Given the description of an element on the screen output the (x, y) to click on. 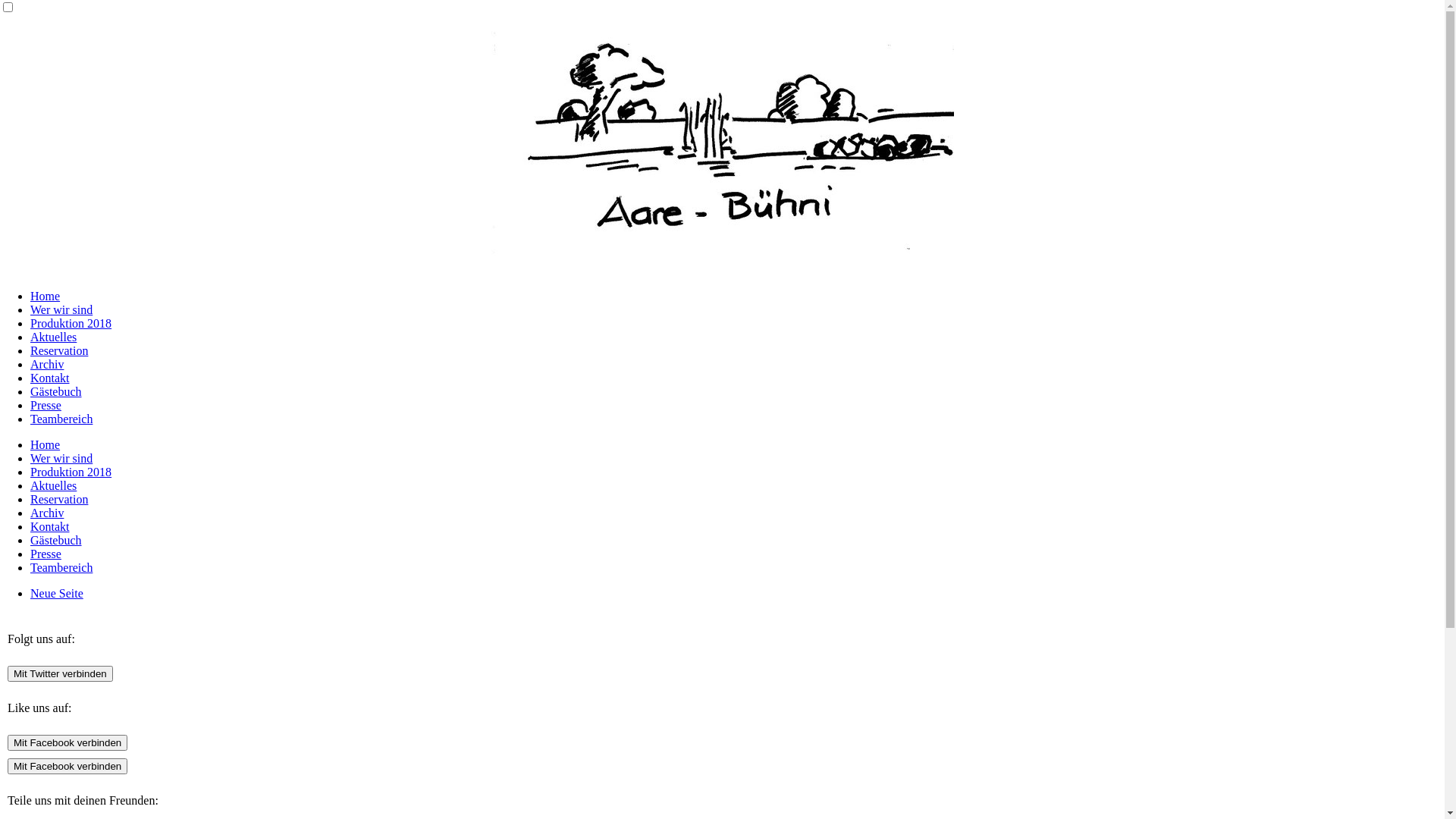
Produktion 2018 Element type: text (70, 471)
Aktuelles Element type: text (53, 336)
Wer wir sind Element type: text (61, 457)
Kontakt Element type: text (49, 526)
Neue Seite Element type: text (56, 592)
Mit Twitter verbinden Element type: text (59, 673)
Kontakt Element type: text (49, 377)
Archiv Element type: text (46, 363)
Aktuelles Element type: text (53, 485)
Presse Element type: text (45, 553)
Teambereich Element type: text (61, 418)
Archiv Element type: text (46, 512)
Wer wir sind Element type: text (61, 309)
Teambereich Element type: text (61, 567)
Reservation Element type: text (58, 498)
Home Element type: text (44, 295)
Home Element type: text (44, 444)
Reservation Element type: text (58, 350)
Mit Facebook verbinden Element type: text (67, 742)
Presse Element type: text (45, 404)
Mit Facebook verbinden Element type: text (67, 766)
Produktion 2018 Element type: text (70, 322)
